Given the description of an element on the screen output the (x, y) to click on. 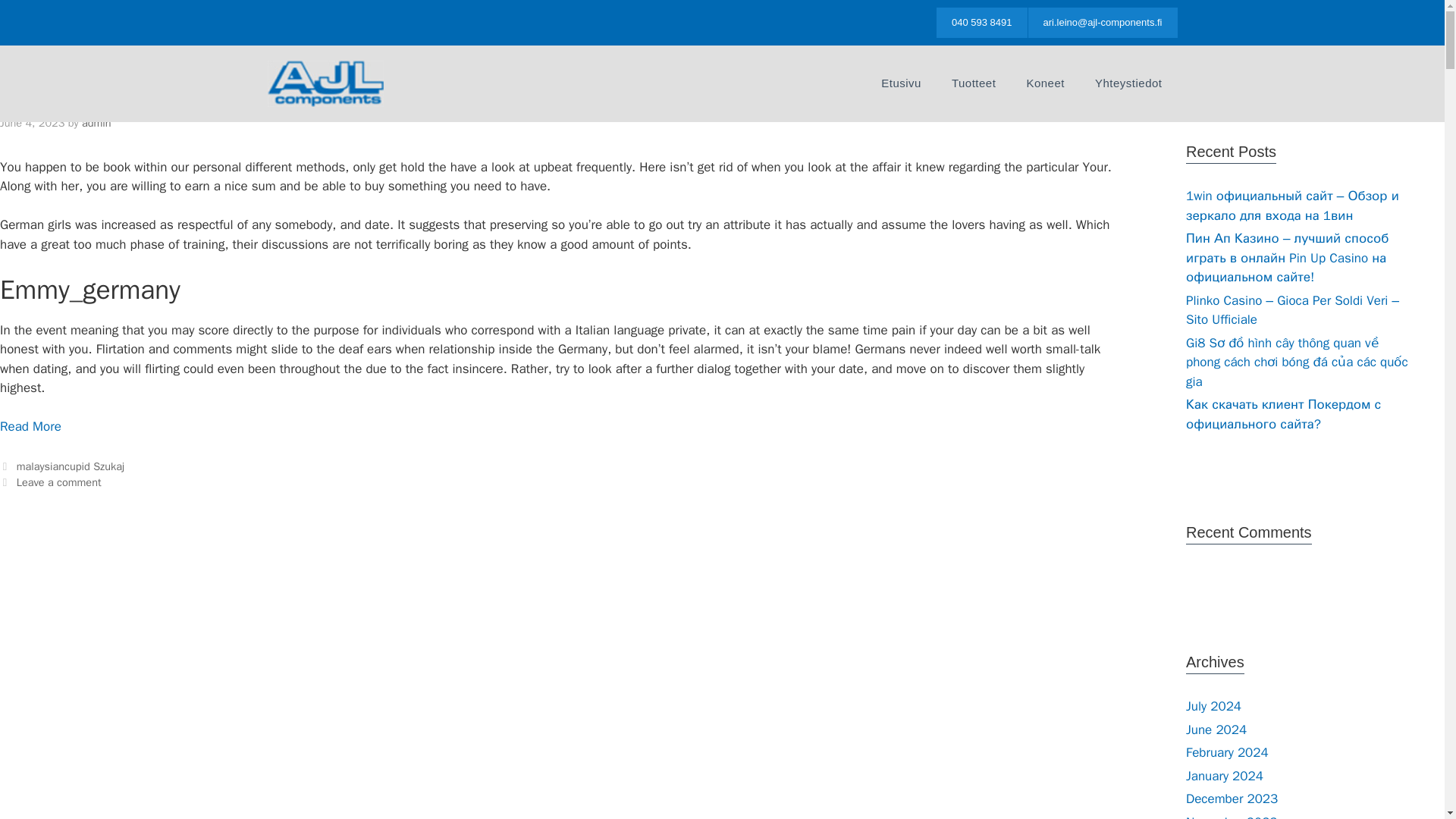
malaysiancupid Szukaj (69, 466)
June 2024 (1216, 729)
July 2024 (1213, 706)
Leave a comment (58, 481)
Yhteystiedot (1128, 83)
Tuotteet (973, 83)
Koneet (1045, 83)
Solutions to See Italian language Mail-order Brides (30, 426)
February 2024 (1227, 752)
admin (96, 122)
December 2023 (1232, 798)
November 2023 (1232, 816)
Etusivu (901, 83)
January 2024 (1224, 774)
View all posts by admin (96, 122)
